Given the description of an element on the screen output the (x, y) to click on. 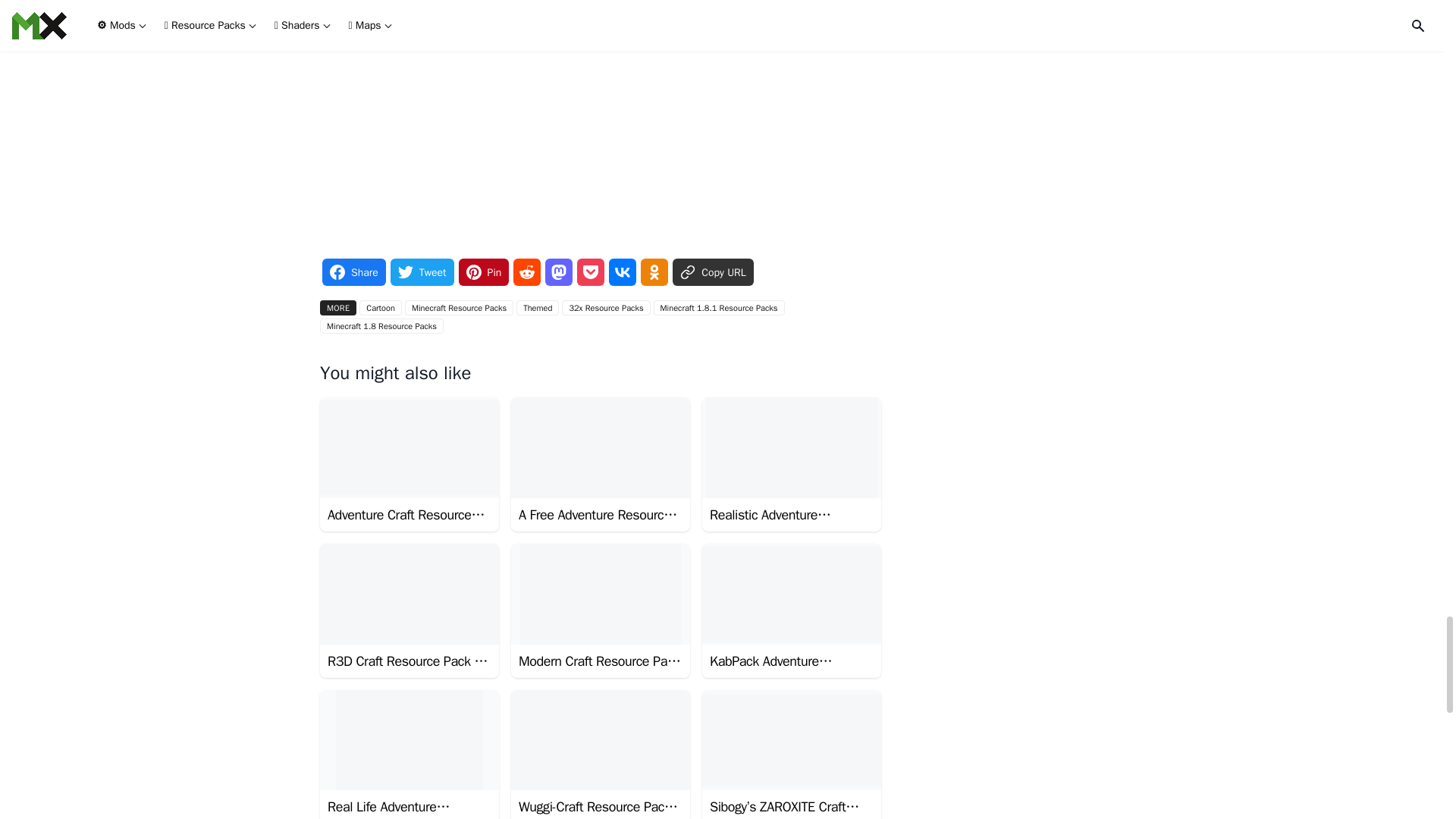
Modern Craft Resource Pack for Minecraft 1.9 (600, 610)
A Free Adventure Resource Pack for Minecraft 1.8.9 (600, 464)
Adventure Craft Resource Pack for Minecraft 1.11.2 (409, 464)
